Given the description of an element on the screen output the (x, y) to click on. 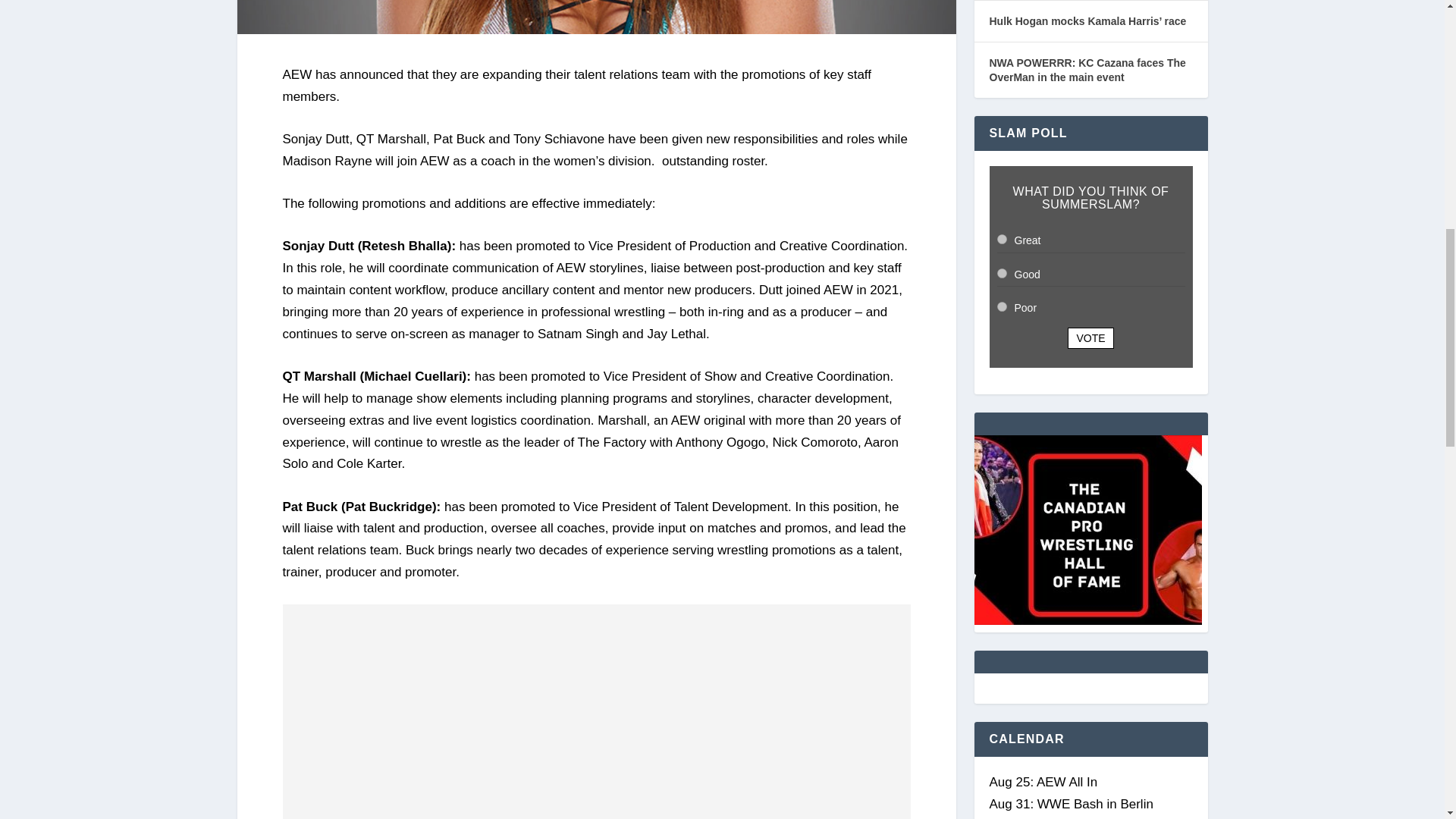
6504 (1000, 273)
6505 (1000, 307)
6503 (1000, 239)
